Given the description of an element on the screen output the (x, y) to click on. 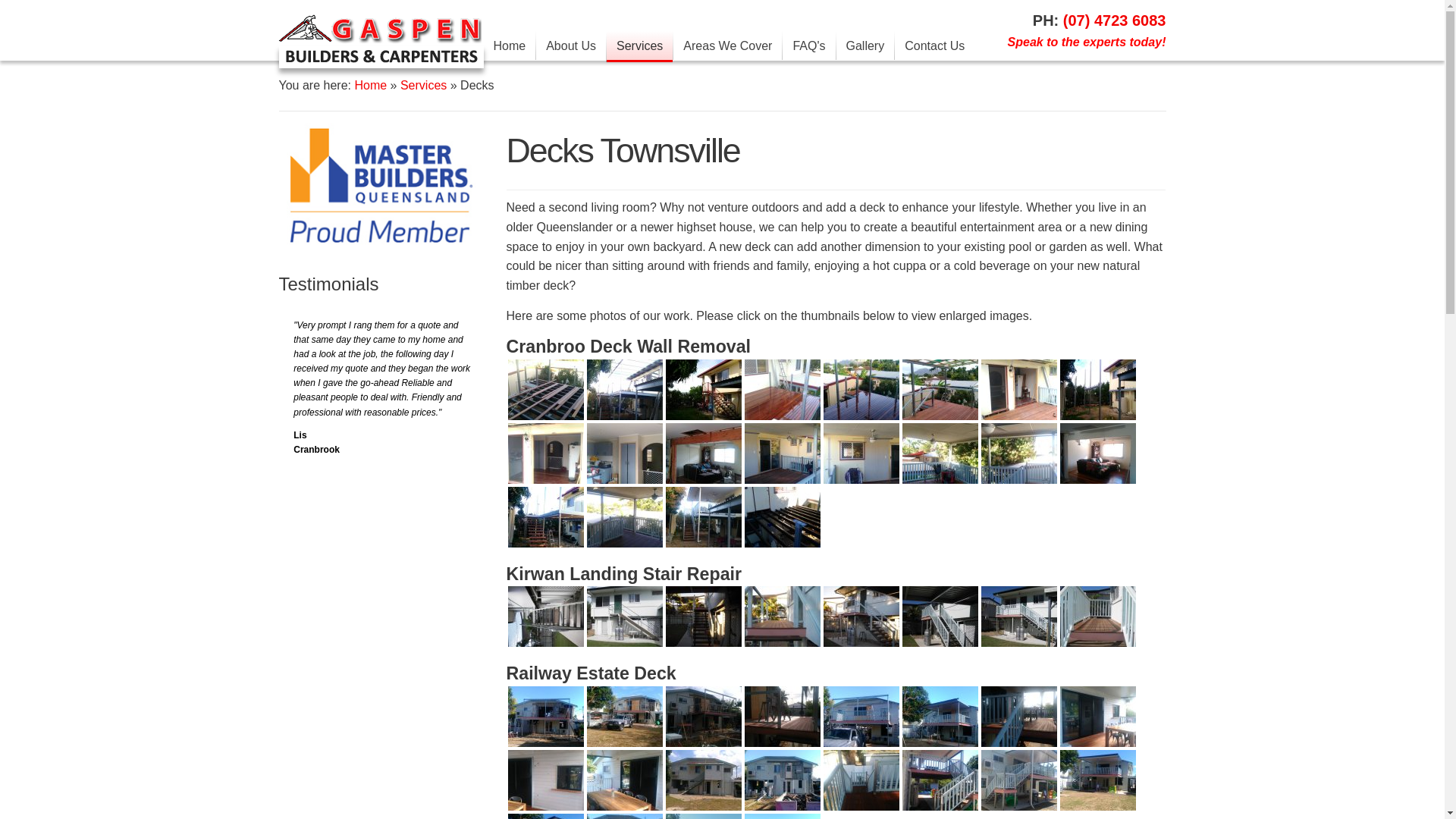
Areas We Cover Element type: text (727, 45)
FAQ's Element type: text (808, 45)
Gallery Element type: text (864, 45)
Services Element type: text (639, 46)
(07) 4723 6083 Element type: text (1114, 20)
     Element type: text (301, 448)
Contact Us Element type: text (934, 45)
About Us Element type: text (570, 45)
Home Element type: text (509, 45)
Services Element type: text (423, 84)
Home Element type: text (370, 84)
     Element type: text (461, 448)
